Given the description of an element on the screen output the (x, y) to click on. 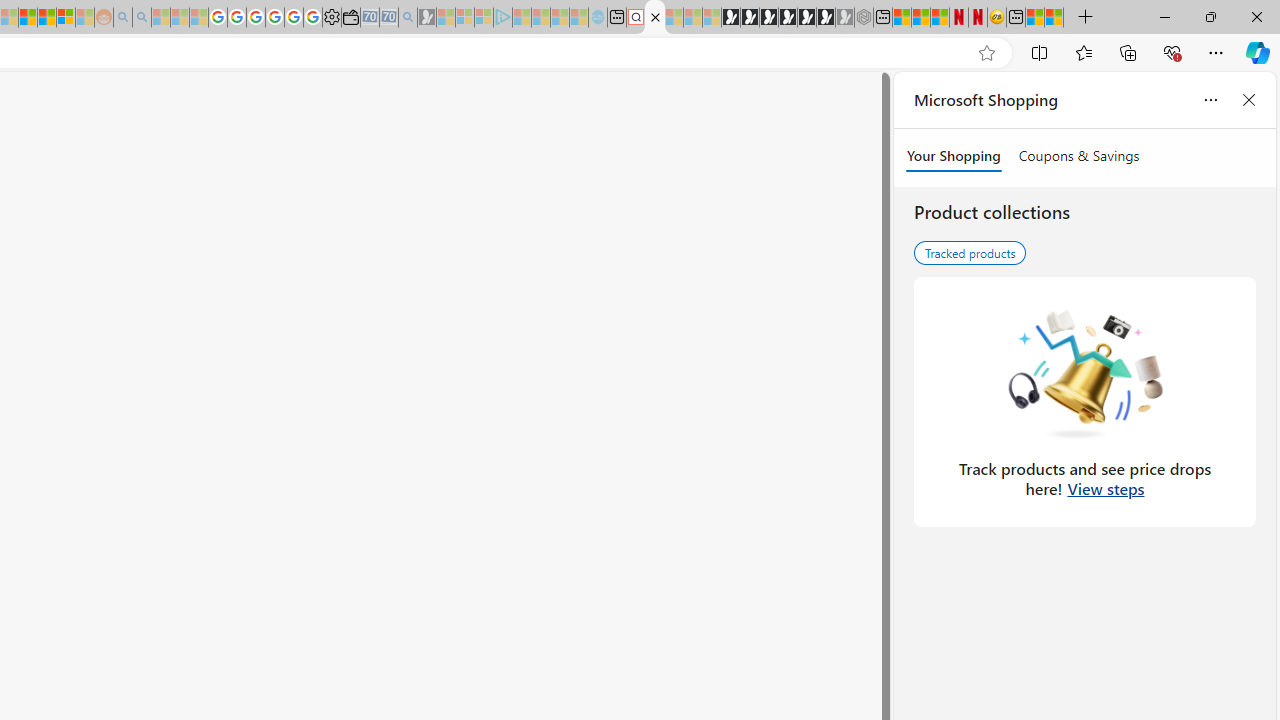
Home | Sky Blue Bikes - Sky Blue Bikes - Sleeping (597, 17)
Utah sues federal government - Search - Sleeping (142, 17)
Wildlife - MSN (1035, 17)
